Given the description of an element on the screen output the (x, y) to click on. 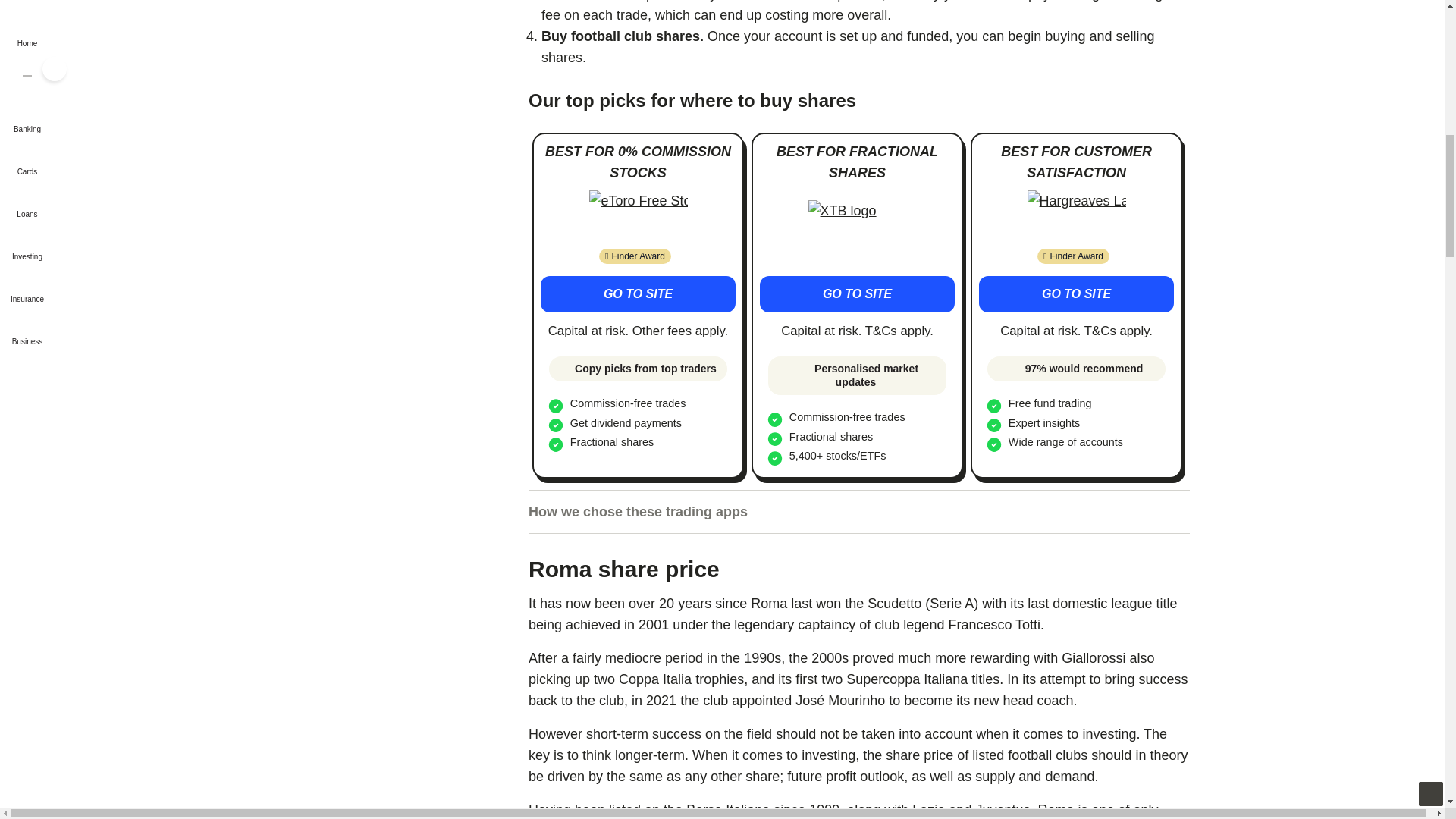
Go to Hargreaves Lansdown (1076, 217)
Go to eToro (638, 217)
Go to XTB (857, 294)
Go to eToro (637, 294)
Go to XTB (857, 226)
Go to Hargreaves Lansdown (1075, 294)
